Given the description of an element on the screen output the (x, y) to click on. 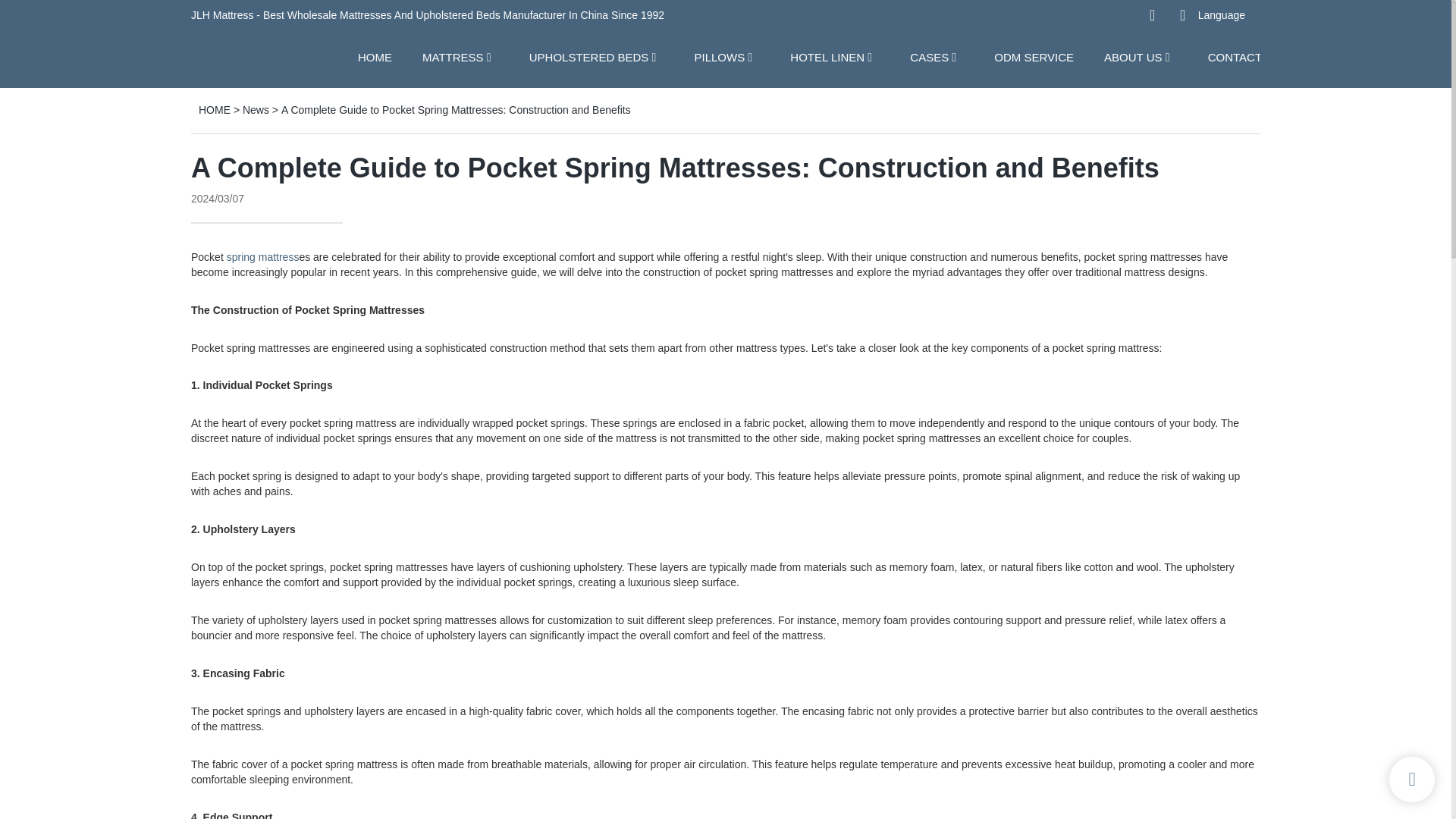
UPHOLSTERED BEDS (589, 56)
ODM SERVICE (1034, 56)
HOME (374, 56)
HOME (214, 110)
ABOUT US (1132, 56)
CONTACT US (1244, 56)
spring mattress (263, 256)
PILLOWS (719, 56)
CASES (929, 56)
News (256, 110)
spring mattress (263, 256)
MATTRESS (452, 56)
HOTEL LINEN (827, 56)
